Given the description of an element on the screen output the (x, y) to click on. 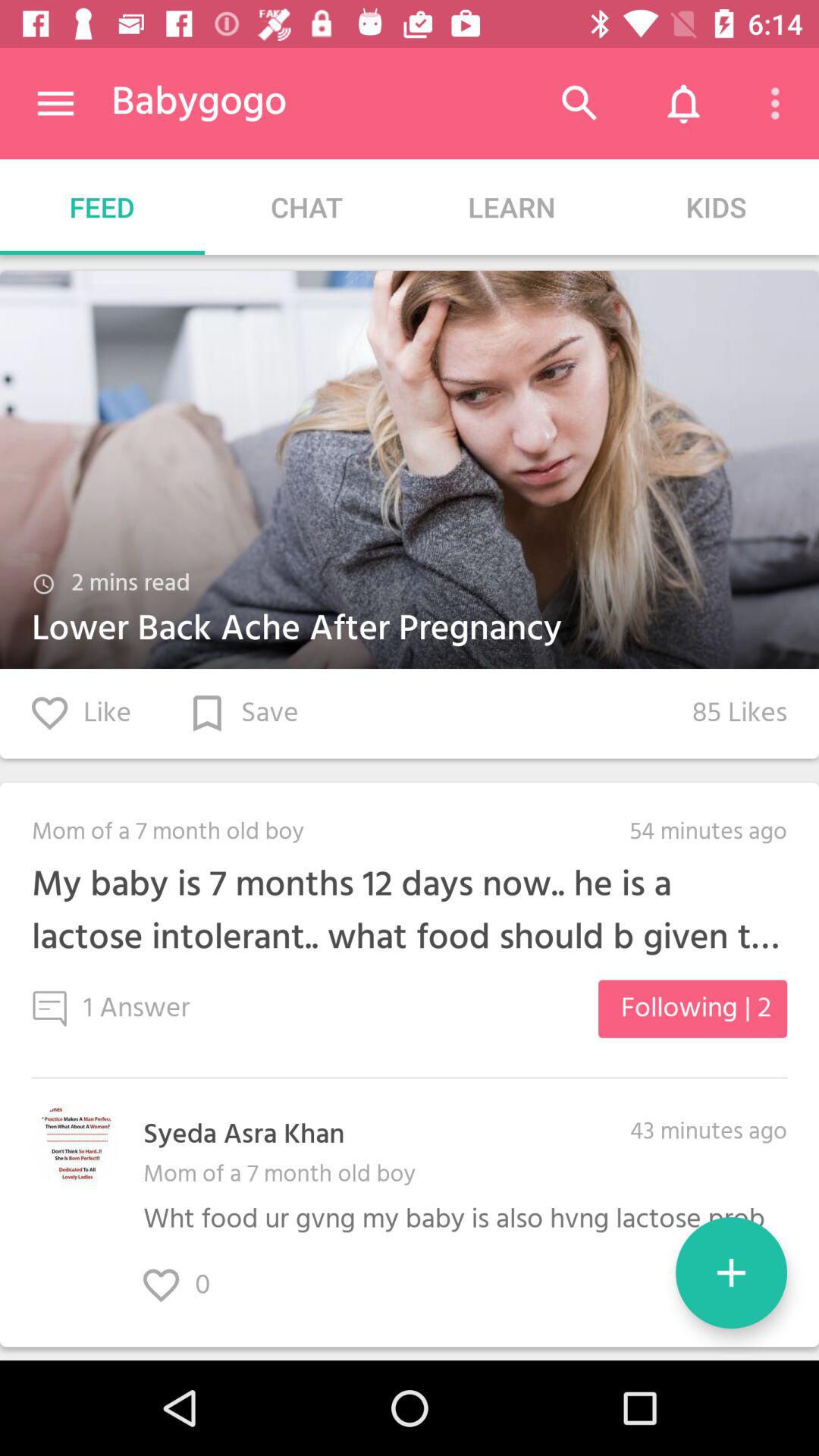
turn off the like item (81, 713)
